Given the description of an element on the screen output the (x, y) to click on. 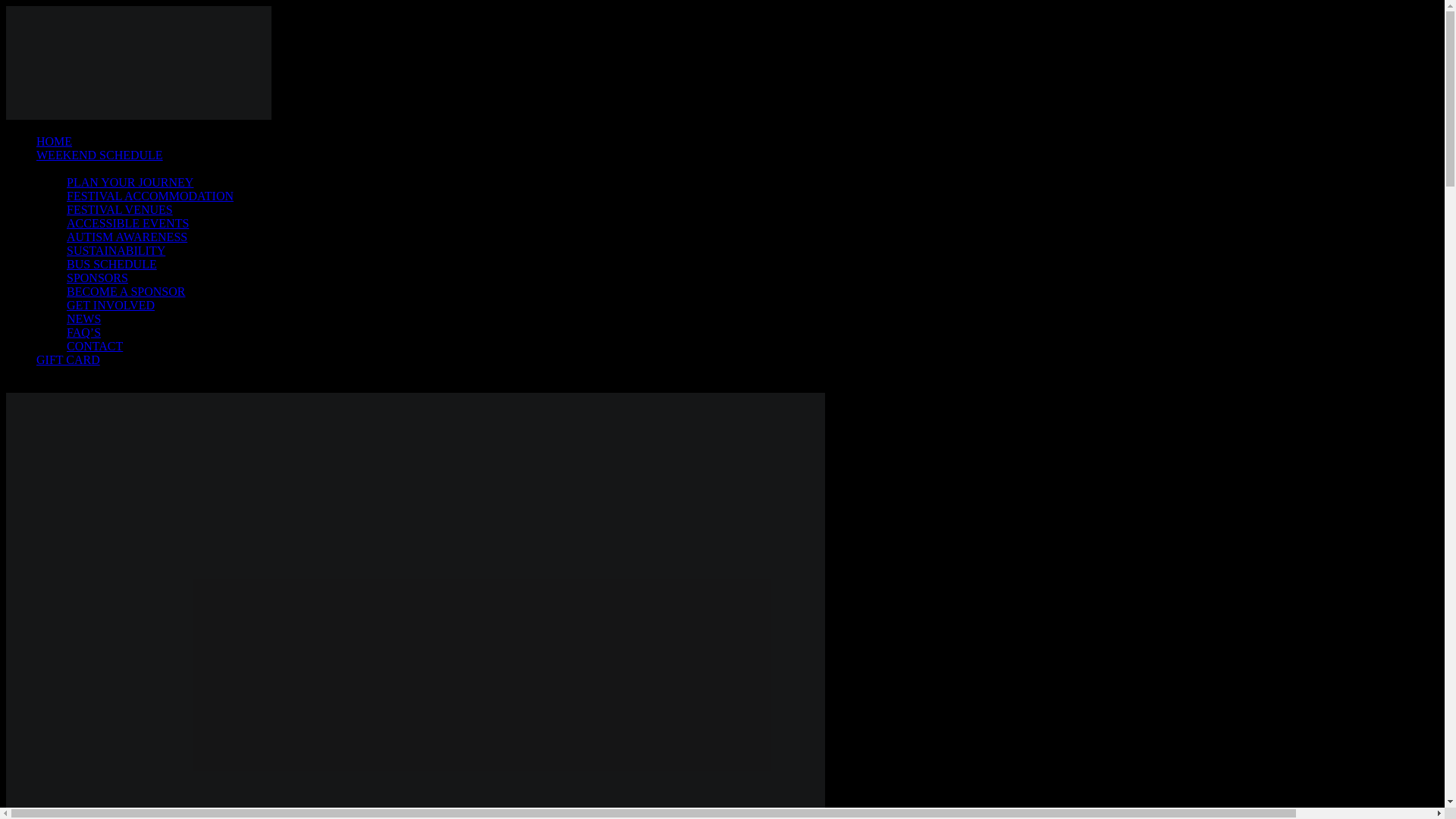
FESTIVAL ACCOMMODATION (149, 195)
FESTIVAL VENUES (119, 209)
BECOME A SPONSOR (126, 291)
SUSTAINABILITY (115, 250)
ACCESSIBLE EVENTS (127, 223)
WEEKEND SCHEDULE (99, 154)
HOME (53, 141)
BUS SCHEDULE (111, 264)
INFO (50, 168)
SPONSORS (97, 277)
